Given the description of an element on the screen output the (x, y) to click on. 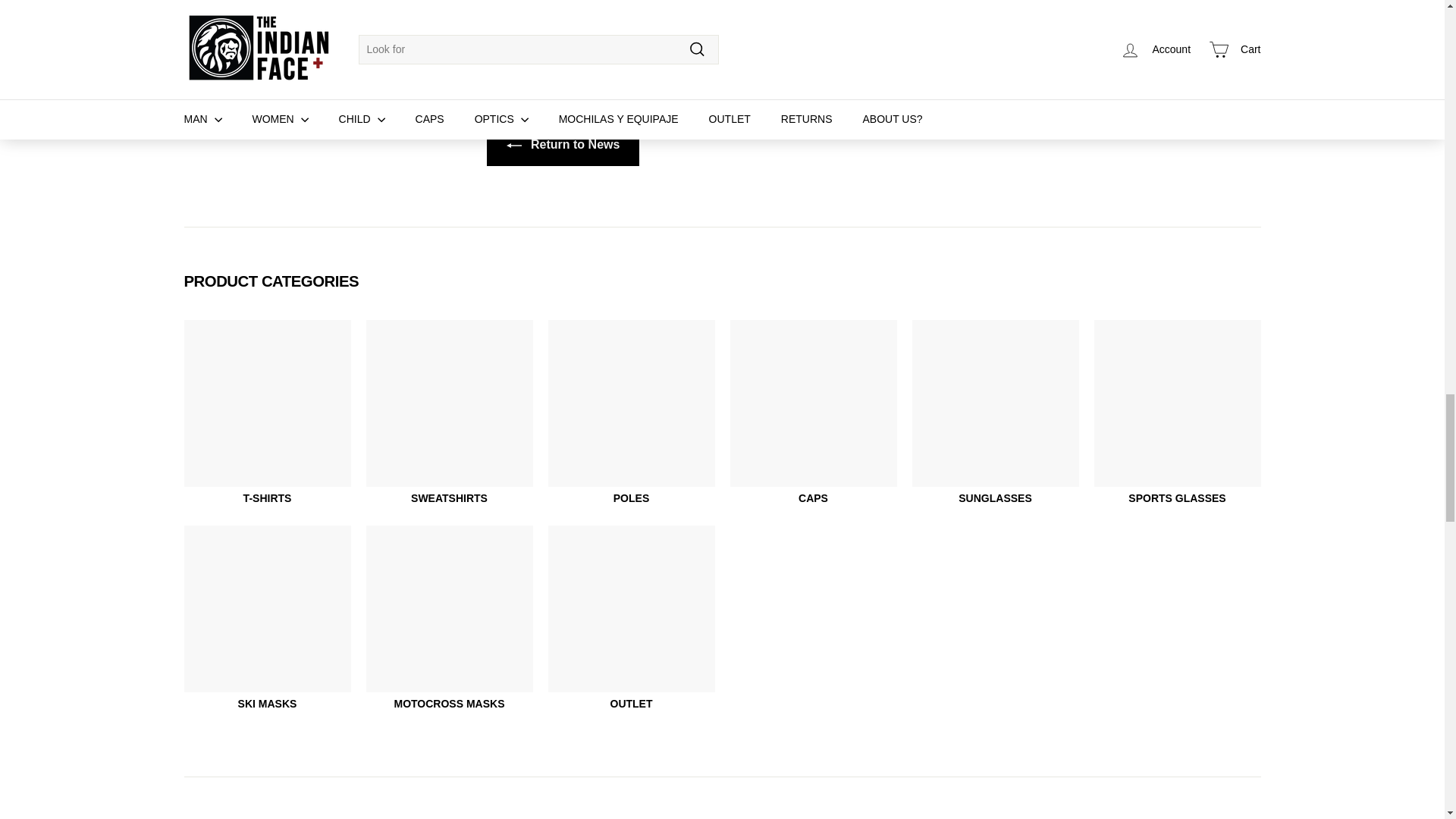
icon-left-arrow (513, 145)
